Given the description of an element on the screen output the (x, y) to click on. 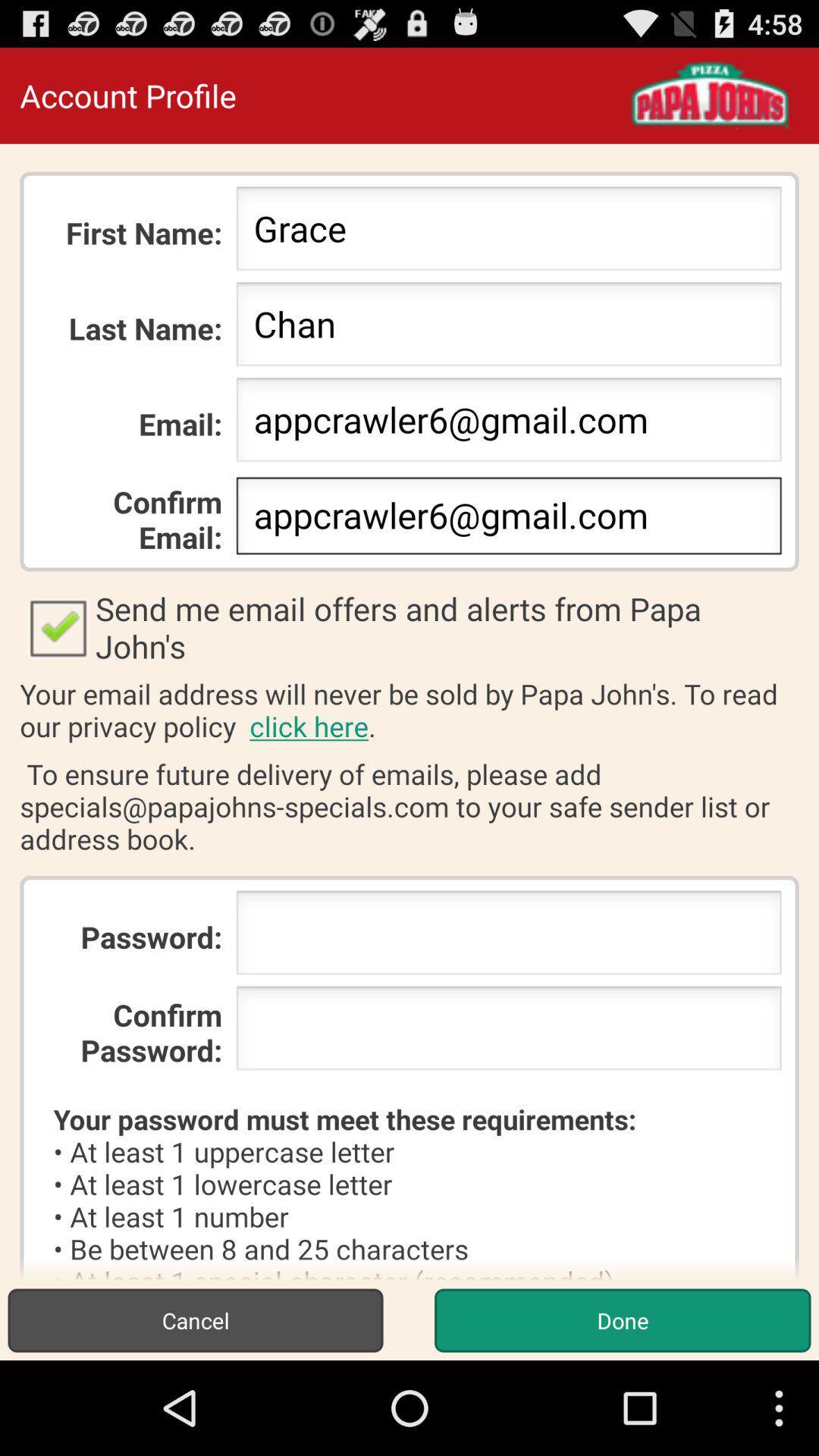
select the chan icon (508, 328)
